Given the description of an element on the screen output the (x, y) to click on. 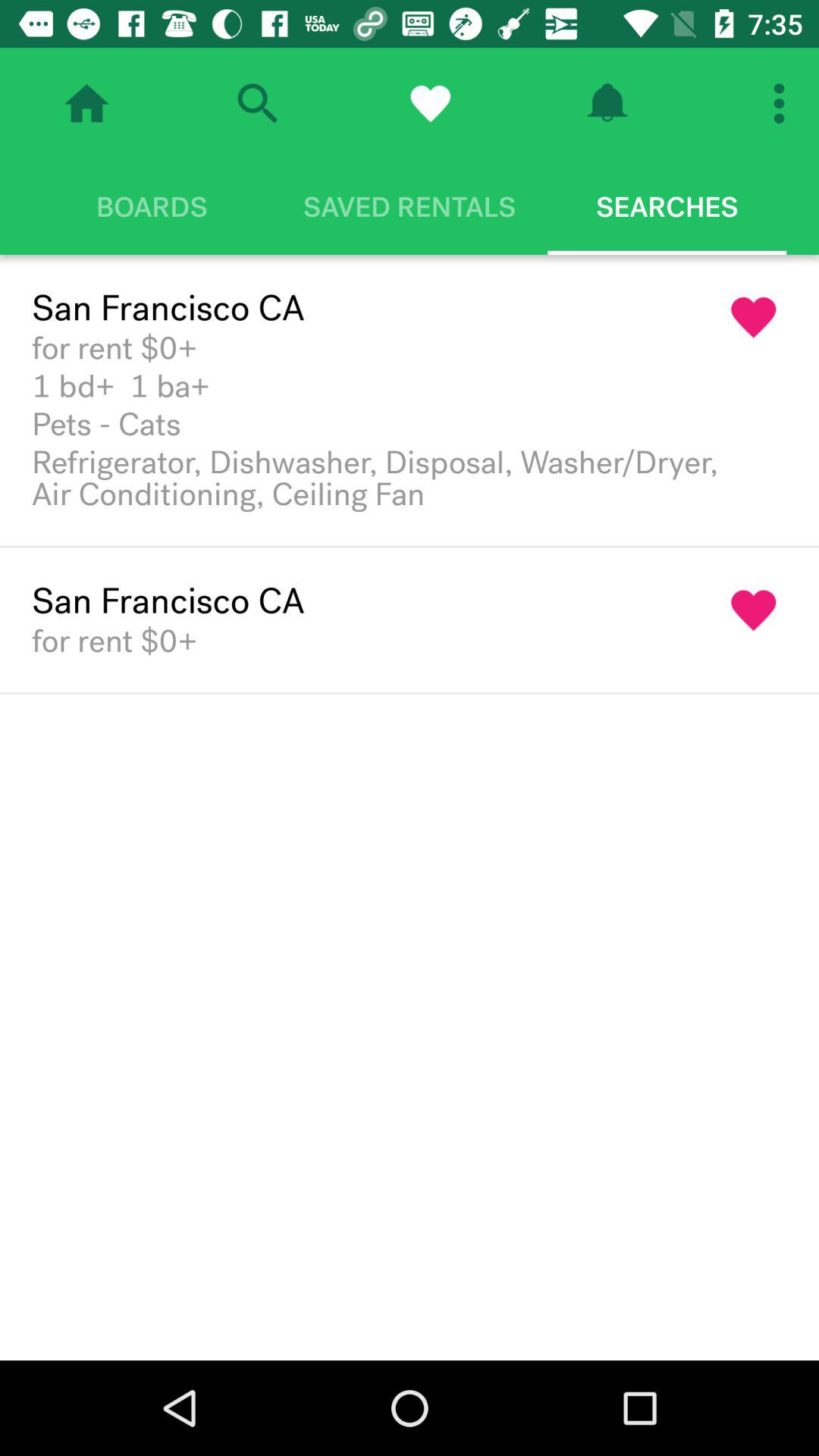
notification bell (606, 103)
